Given the description of an element on the screen output the (x, y) to click on. 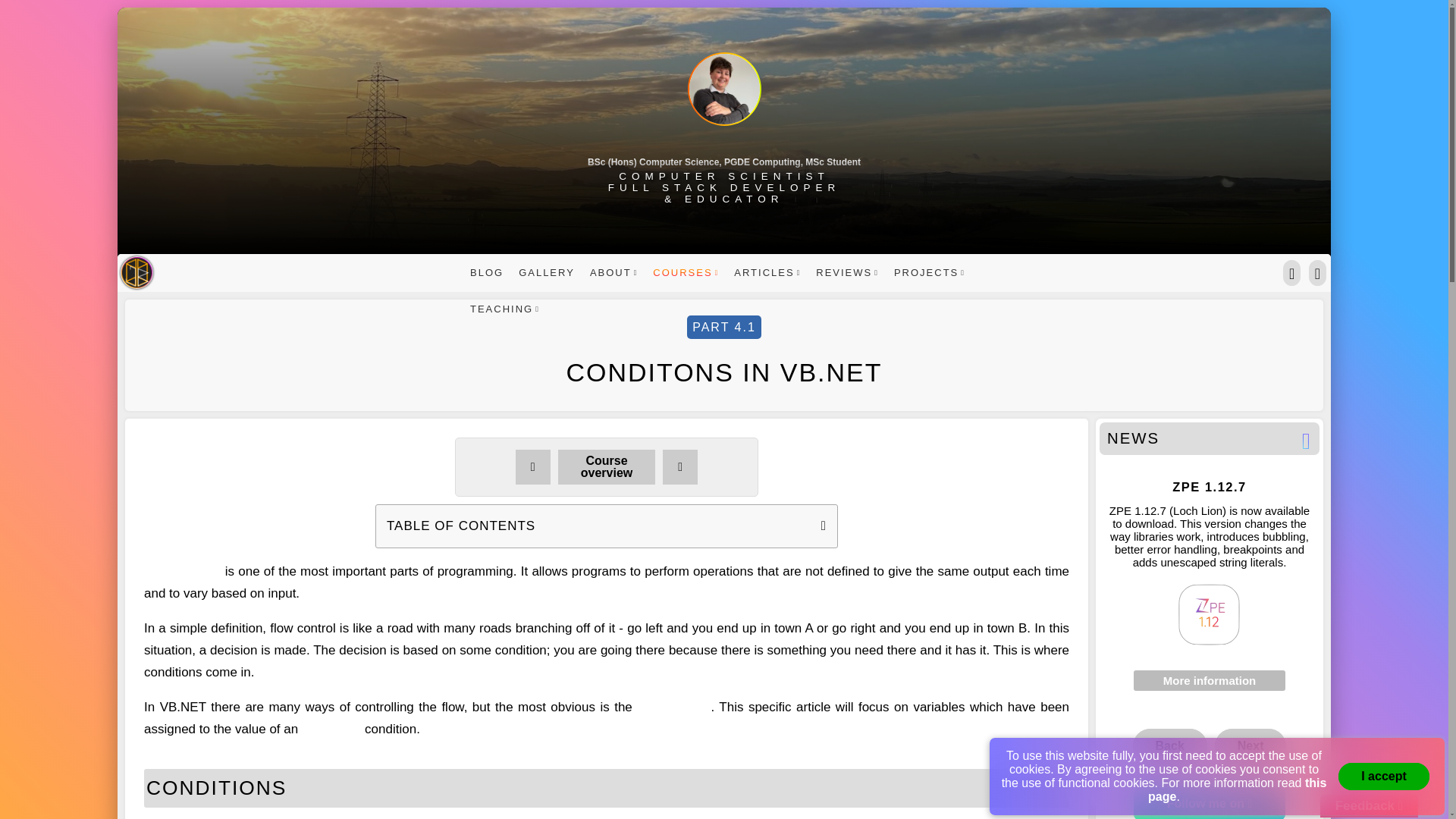
ARTICLES (767, 271)
BLOG (486, 271)
File handling (532, 466)
GALLERY (546, 271)
If statements (679, 466)
ABOUT (614, 271)
REVIEWS (846, 271)
Home (136, 272)
COURSES (685, 271)
Course contents (606, 466)
this page (1237, 789)
I accept (1383, 776)
